Given the description of an element on the screen output the (x, y) to click on. 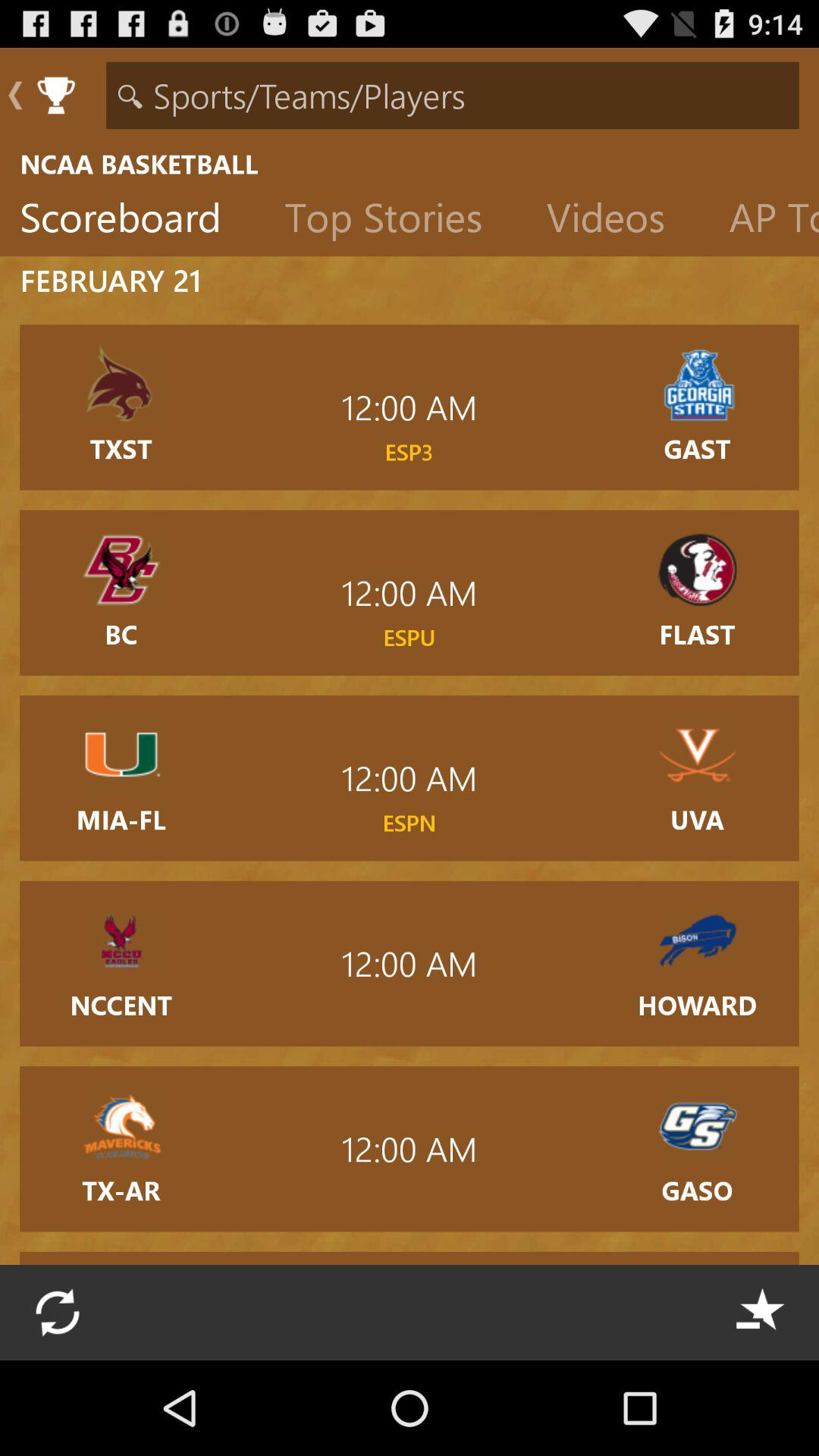
press icon to the right of the top stories item (617, 220)
